Given the description of an element on the screen output the (x, y) to click on. 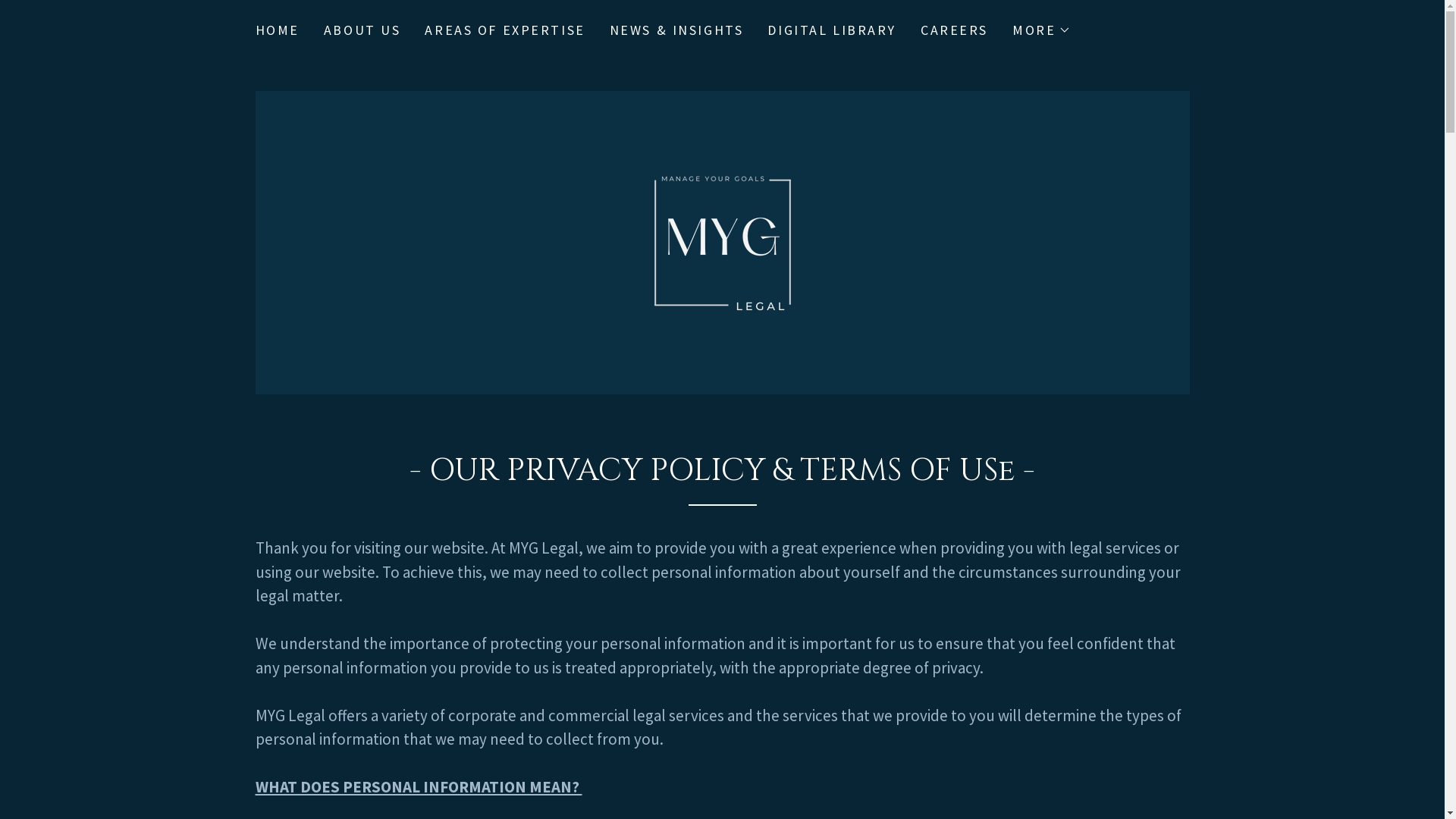
MORE Element type: text (1041, 30)
AREAS OF EXPERTISE Element type: text (504, 29)
HOME Element type: text (276, 29)
DIGITAL LIBRARY Element type: text (831, 29)
NEWS & INSIGHTS Element type: text (676, 29)
CAREERS Element type: text (954, 29)
MYG Legal Element type: hover (721, 240)
ABOUT US Element type: text (362, 29)
